Given the description of an element on the screen output the (x, y) to click on. 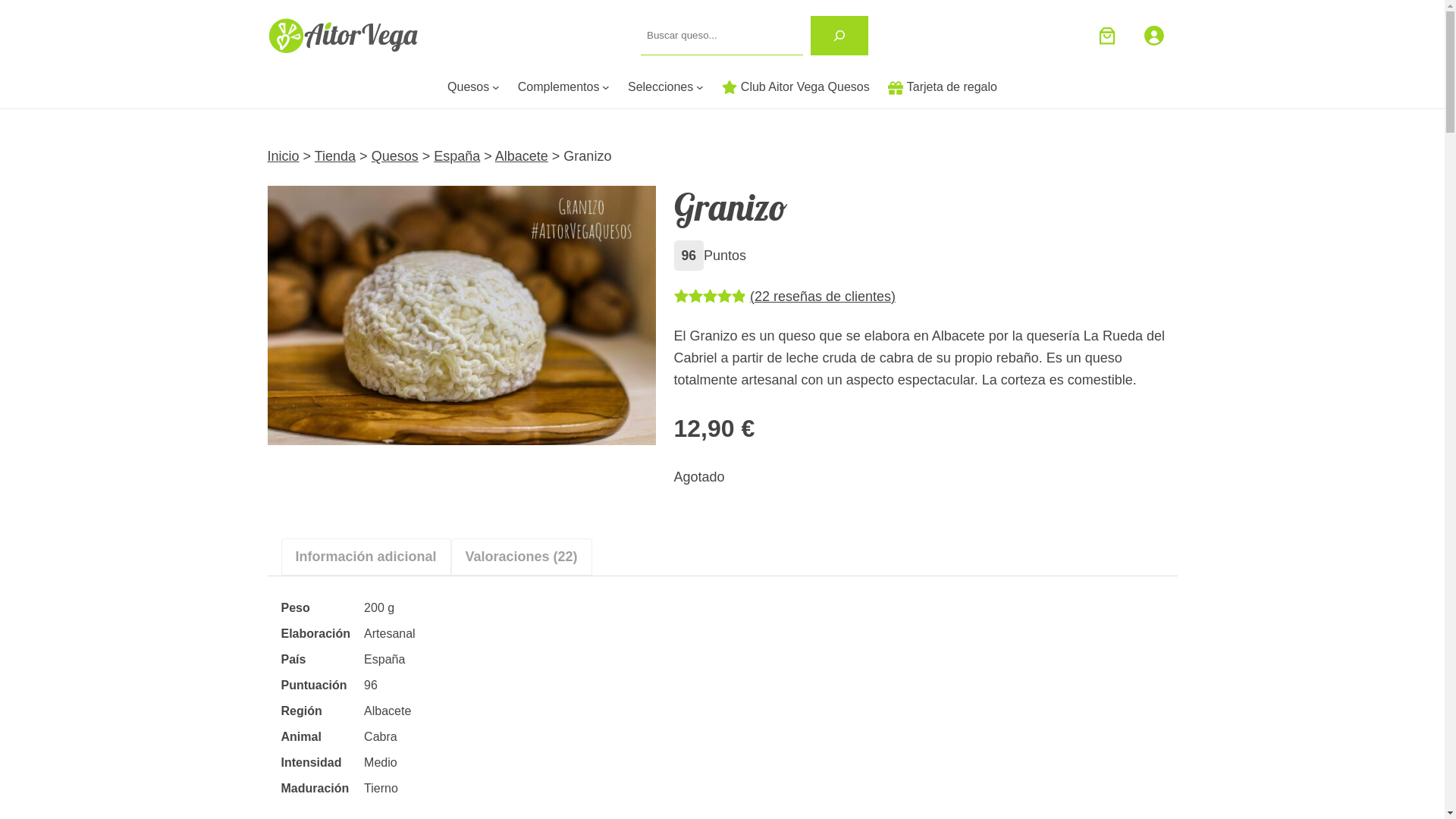
Club Aitor Vega Quesos Element type: text (795, 87)
Valoraciones (22) Element type: text (521, 556)
Selecciones Element type: text (660, 87)
Inicio Element type: text (282, 155)
Complementos Element type: text (558, 87)
Albacete Element type: text (521, 155)
Quesos Element type: text (394, 155)
Queso Granizo Element type: hover (460, 314)
Tarjeta de regalo Element type: text (942, 87)
Tienda Element type: text (334, 155)
Quesos Element type: text (468, 87)
